Given the description of an element on the screen output the (x, y) to click on. 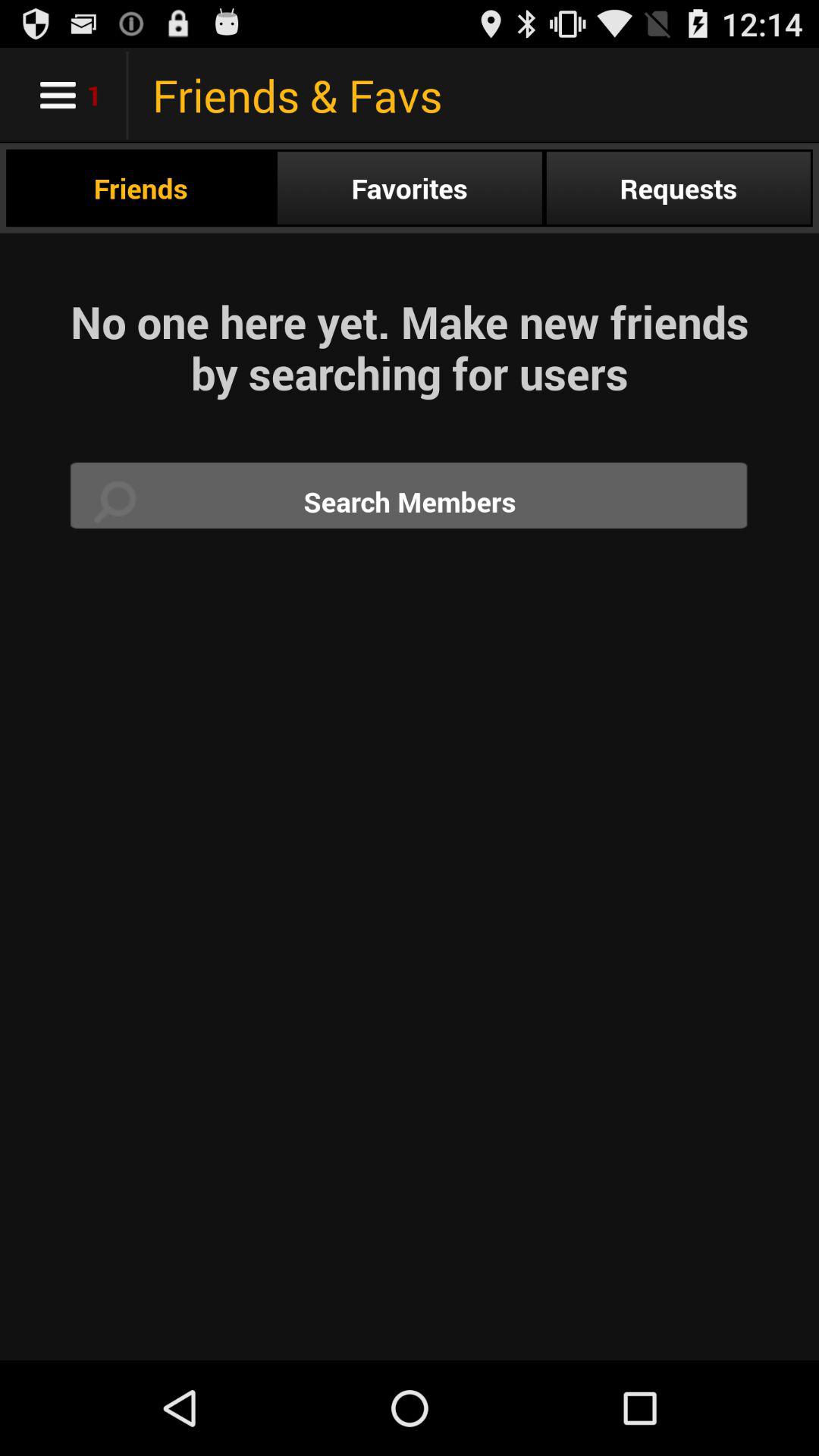
press the item to the left of requests item (409, 187)
